Given the description of an element on the screen output the (x, y) to click on. 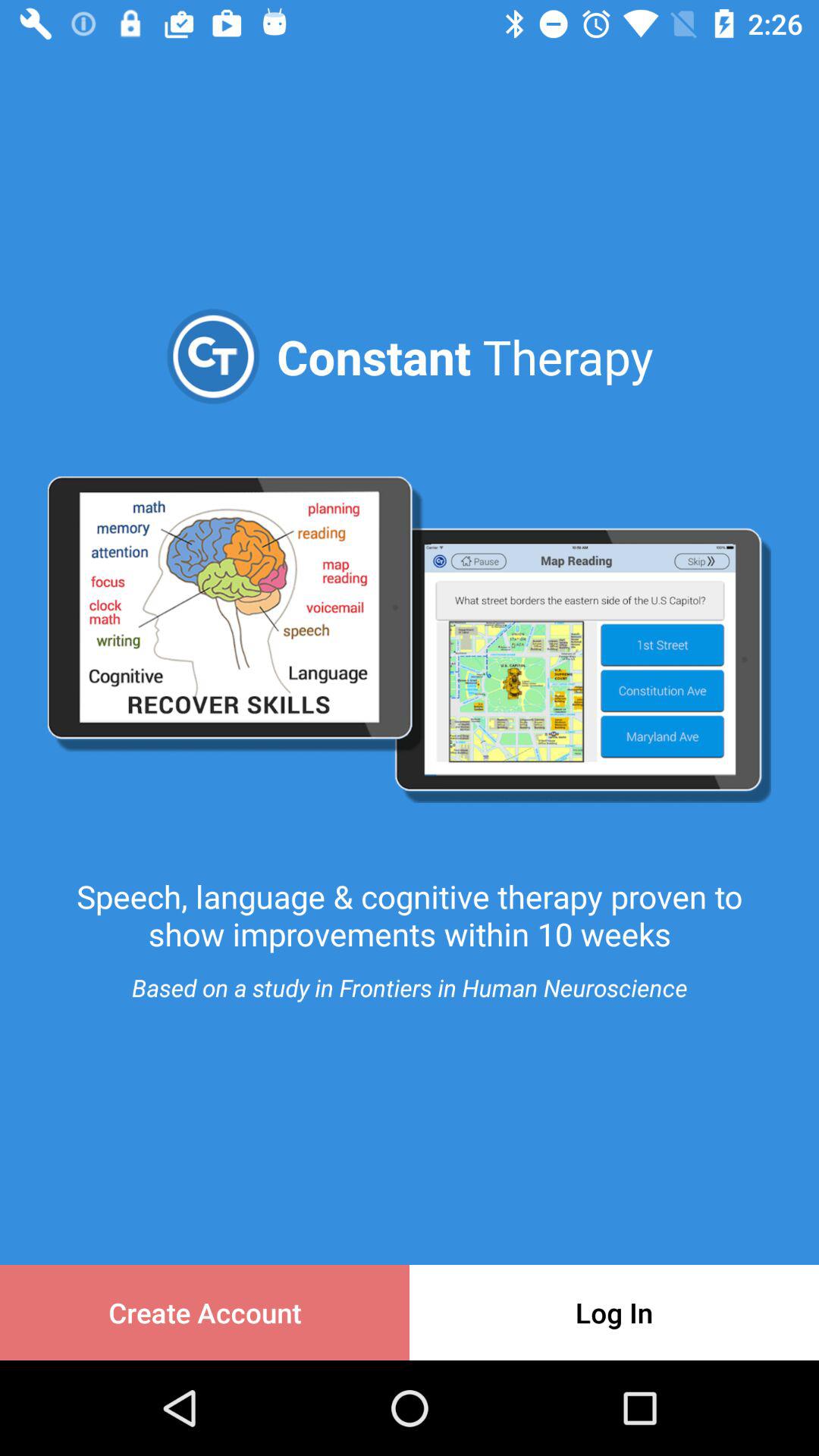
launch create account (204, 1312)
